Given the description of an element on the screen output the (x, y) to click on. 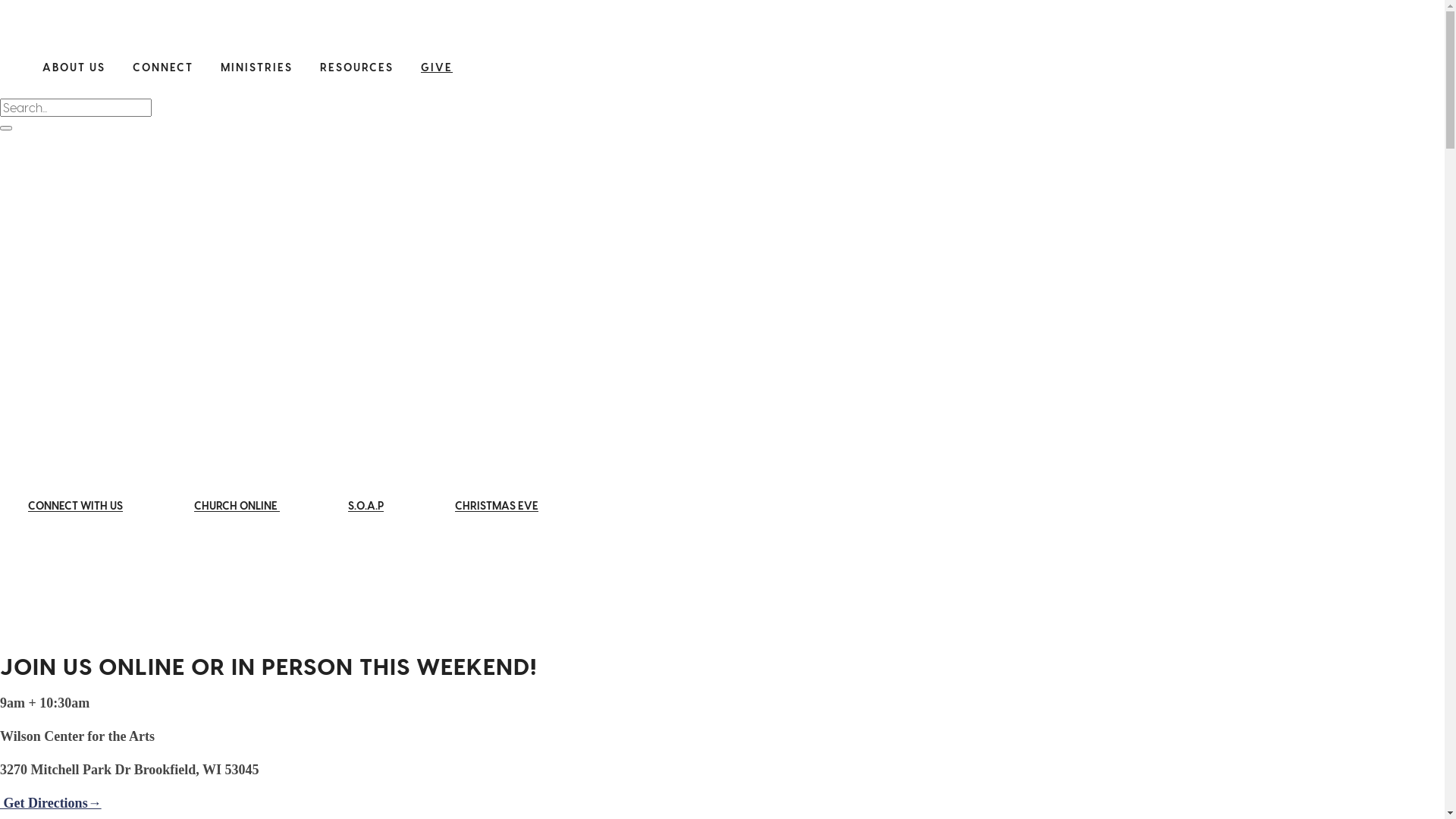
MINISTRIES Element type: text (256, 66)
GIVE Element type: text (436, 66)
CONNECT WITH US Element type: text (75, 504)
CHRISTMAS EVE Element type: text (496, 504)
ABOUT US Element type: text (73, 66)
S.O.A.P Element type: text (365, 504)
RESOURCES Element type: text (356, 66)
CONNECT Element type: text (162, 66)
CHURCH ONLINE Element type: text (236, 504)
